Given the description of an element on the screen output the (x, y) to click on. 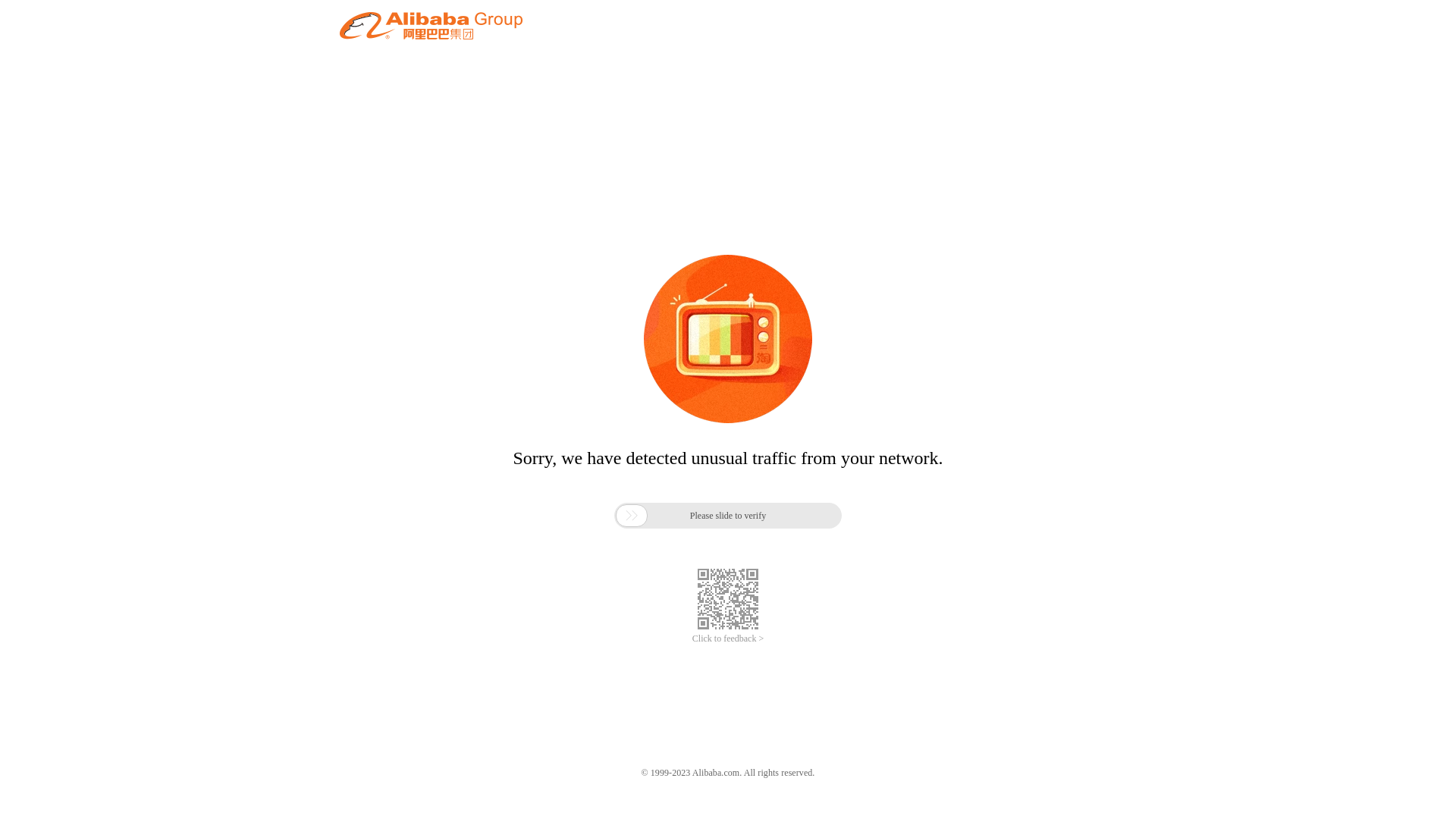
Click to feedback > Element type: text (727, 638)
